Given the description of an element on the screen output the (x, y) to click on. 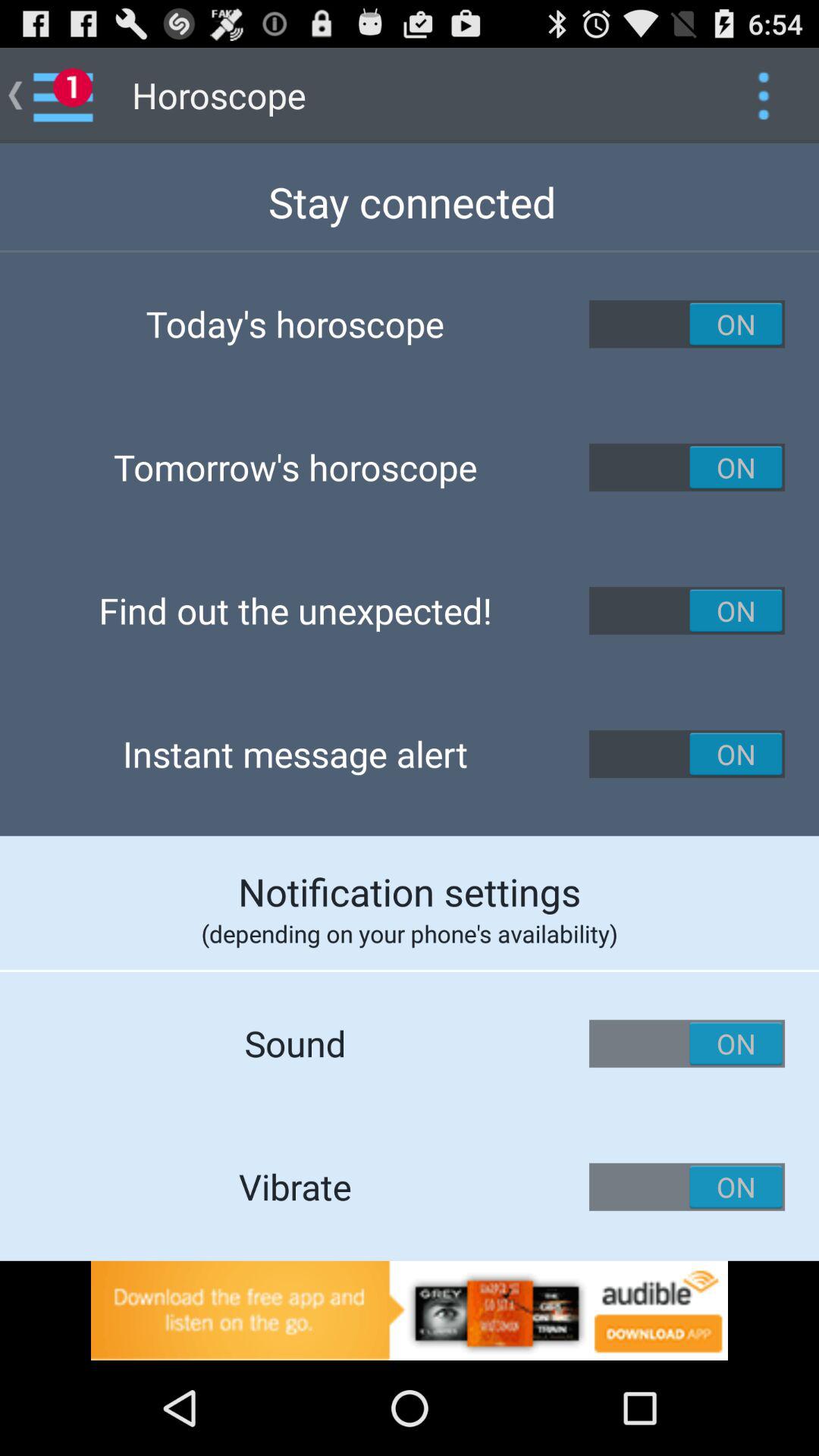
turn on/off instant message alert (686, 754)
